Given the description of an element on the screen output the (x, y) to click on. 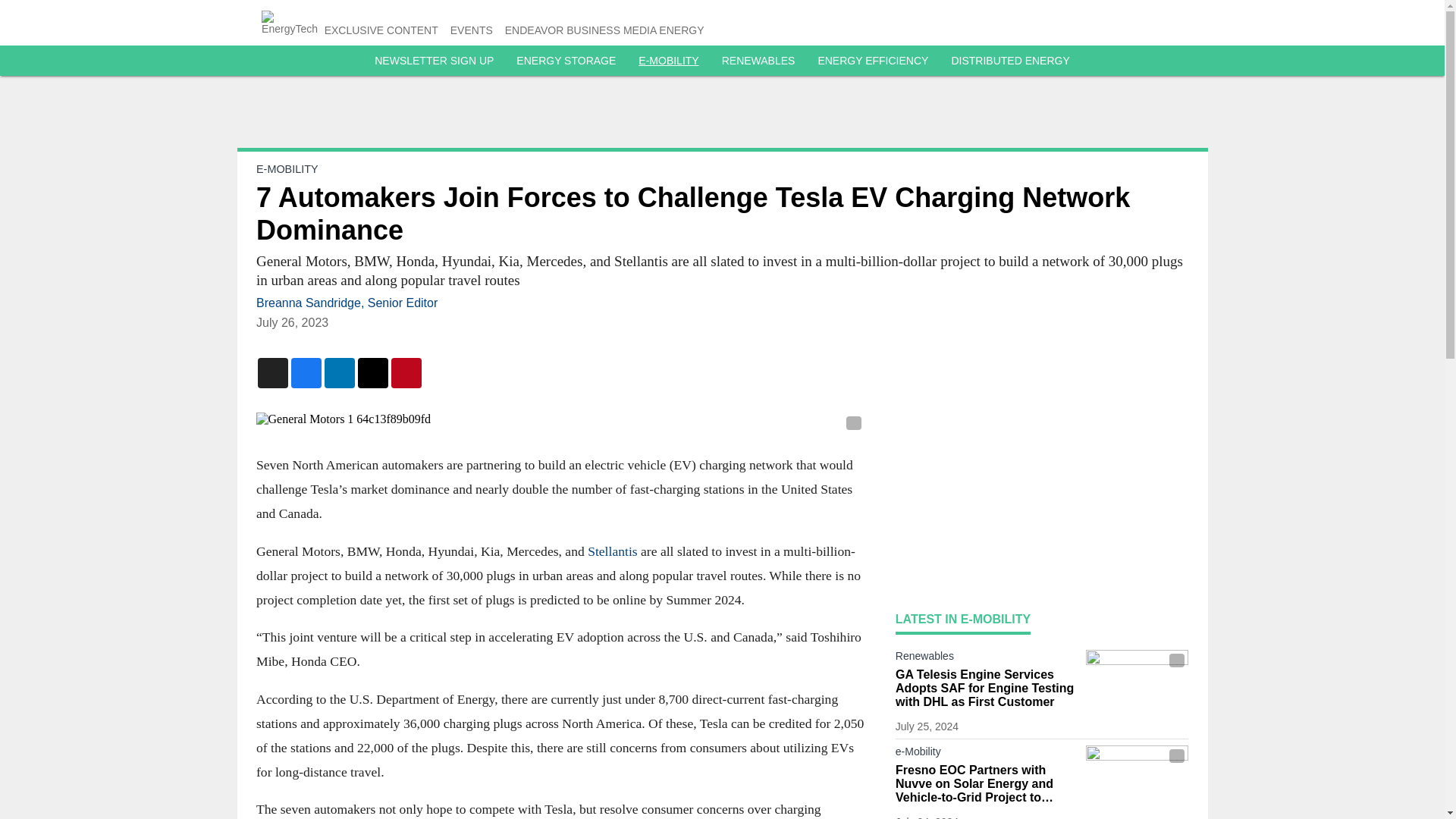
ENDEAVOR BUSINESS MEDIA ENERGY (604, 30)
E-MOBILITY (287, 168)
General Motors 1 64c13f89b09fd (560, 418)
e-Mobility (986, 754)
ENERGY EFFICIENCY (872, 60)
Renewables (986, 659)
LATEST IN E-MOBILITY (962, 618)
EVENTS (471, 30)
RENEWABLES (758, 60)
EXCLUSIVE CONTENT (381, 30)
NEWSLETTER SIGN UP (433, 60)
DISTRIBUTED ENERGY (1009, 60)
Stellantis (614, 549)
ENERGY STORAGE (565, 60)
